Given the description of an element on the screen output the (x, y) to click on. 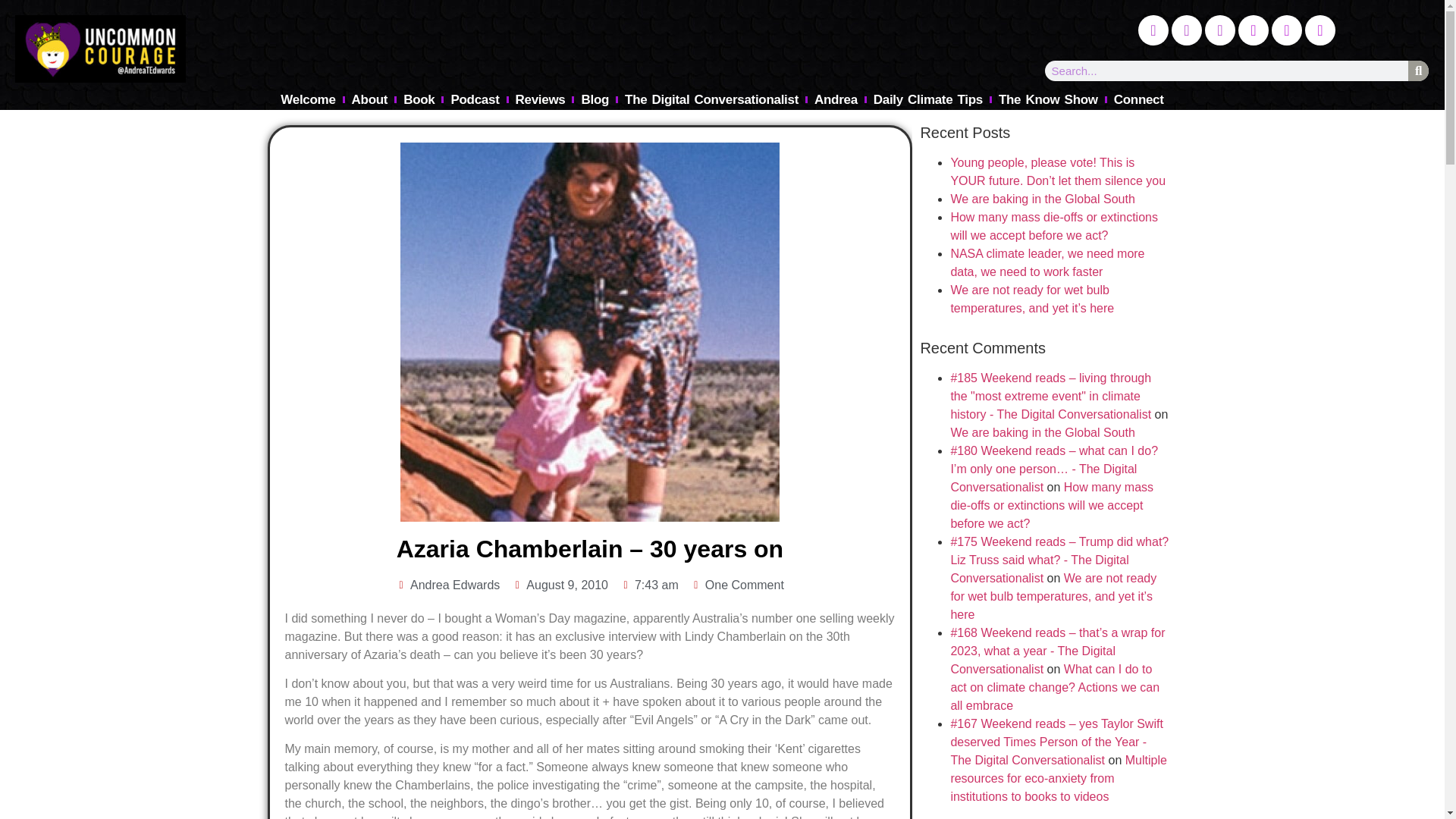
Podcast (474, 98)
The Know Show (1047, 98)
The Digital Conversationalist (711, 98)
Book (419, 98)
Daily Climate Tips (927, 98)
Andrea (835, 98)
Blog (594, 98)
August 9, 2010 (560, 585)
Reviews (540, 98)
Andrea Edwards (447, 585)
Welcome (307, 98)
Connect (1139, 98)
One Comment (737, 585)
About (370, 98)
